Given the description of an element on the screen output the (x, y) to click on. 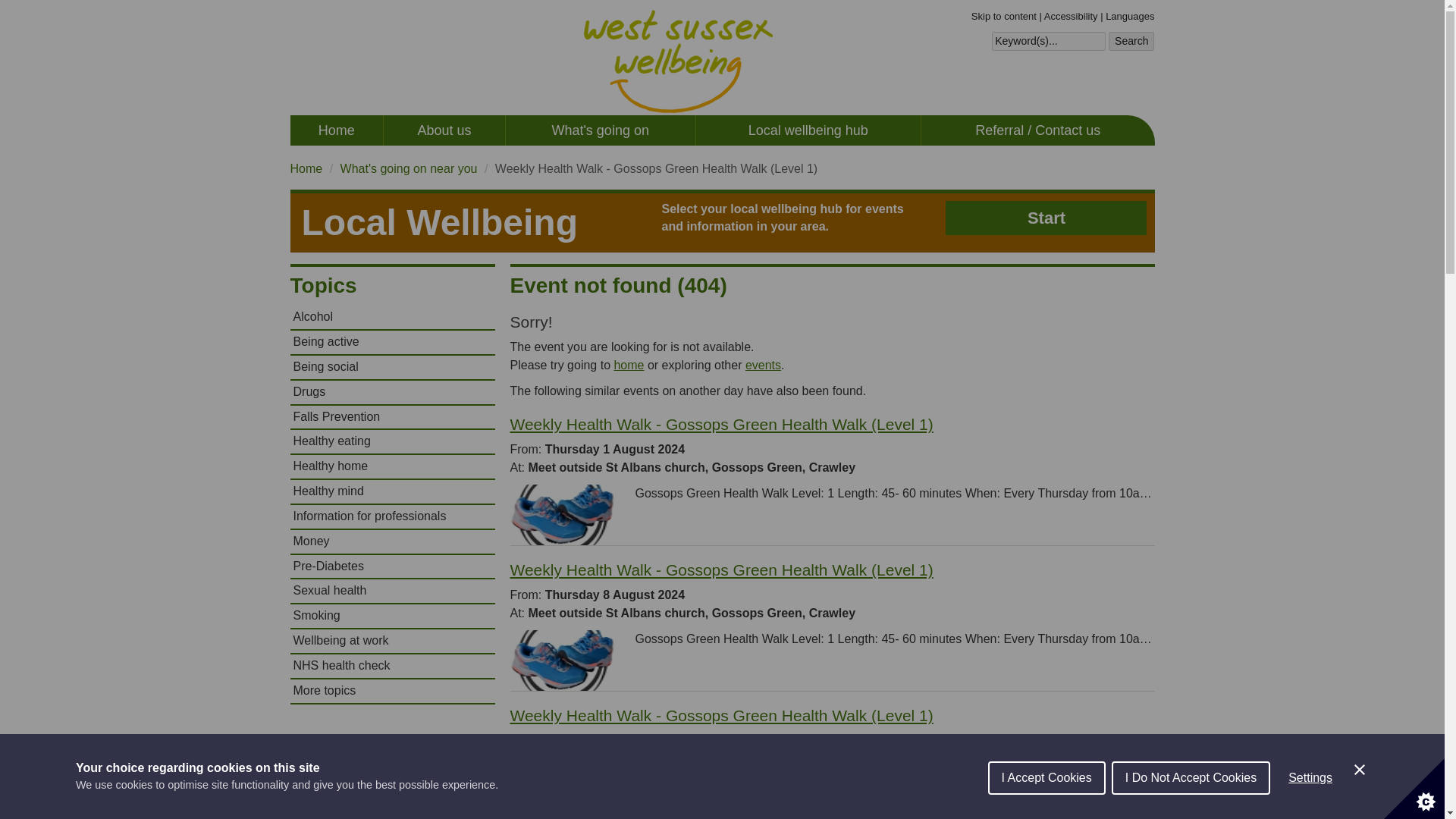
I Do Not Accept Cookies (1190, 811)
Local wellbeing hub (807, 130)
Home (335, 130)
Settings (1309, 806)
About us (444, 130)
Skip to content (1003, 16)
Search (1131, 41)
Search (1131, 41)
Accessibility (1070, 16)
Home (305, 168)
home (627, 364)
What's going on near you (408, 168)
What's going on (600, 130)
I Accept Cookies (1046, 815)
Languages (1129, 16)
